Given the description of an element on the screen output the (x, y) to click on. 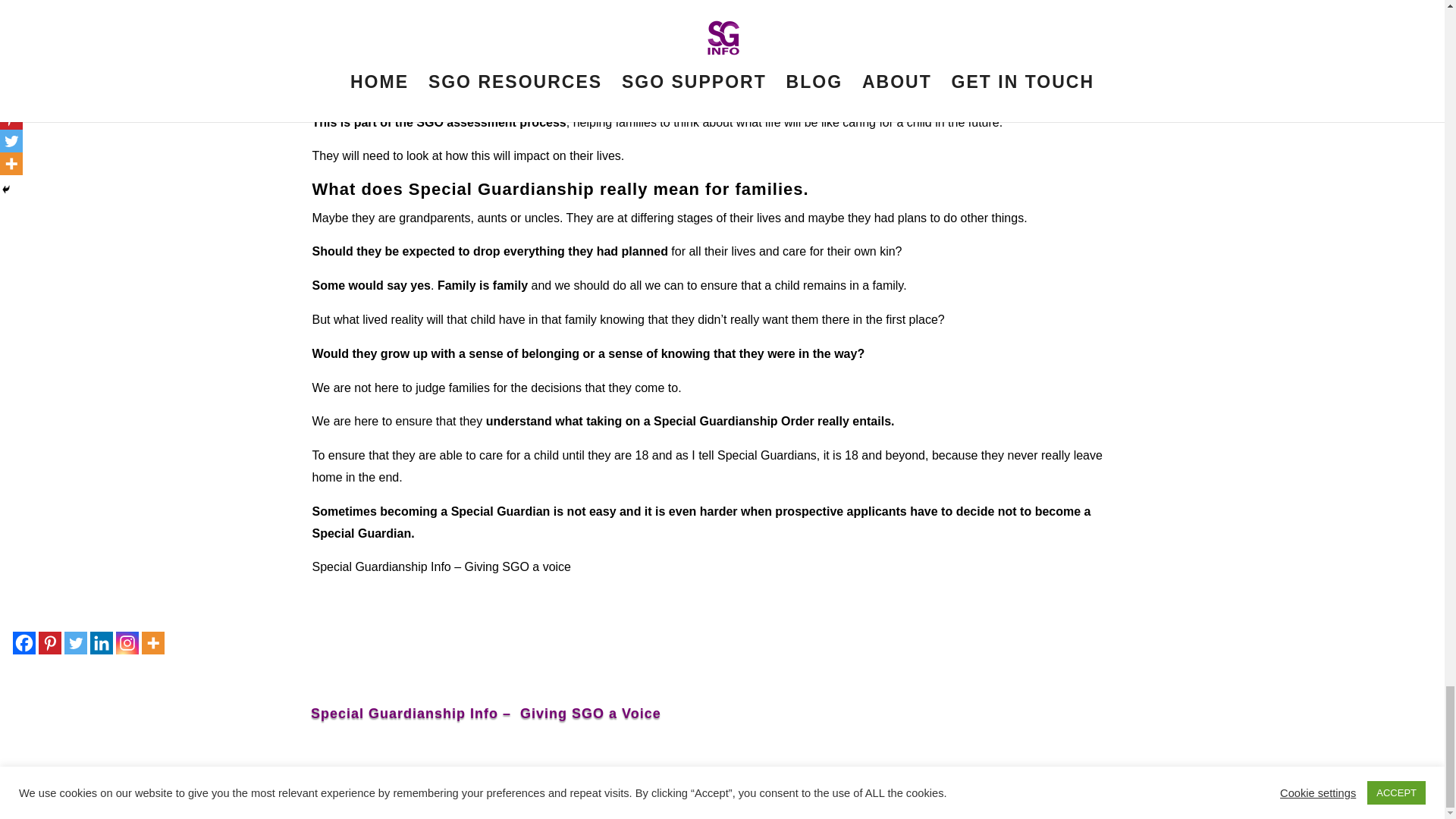
Twitter (75, 642)
More (152, 642)
Facebook (23, 642)
Instagram (127, 642)
Linkedin (101, 642)
Pinterest (50, 642)
